Given the description of an element on the screen output the (x, y) to click on. 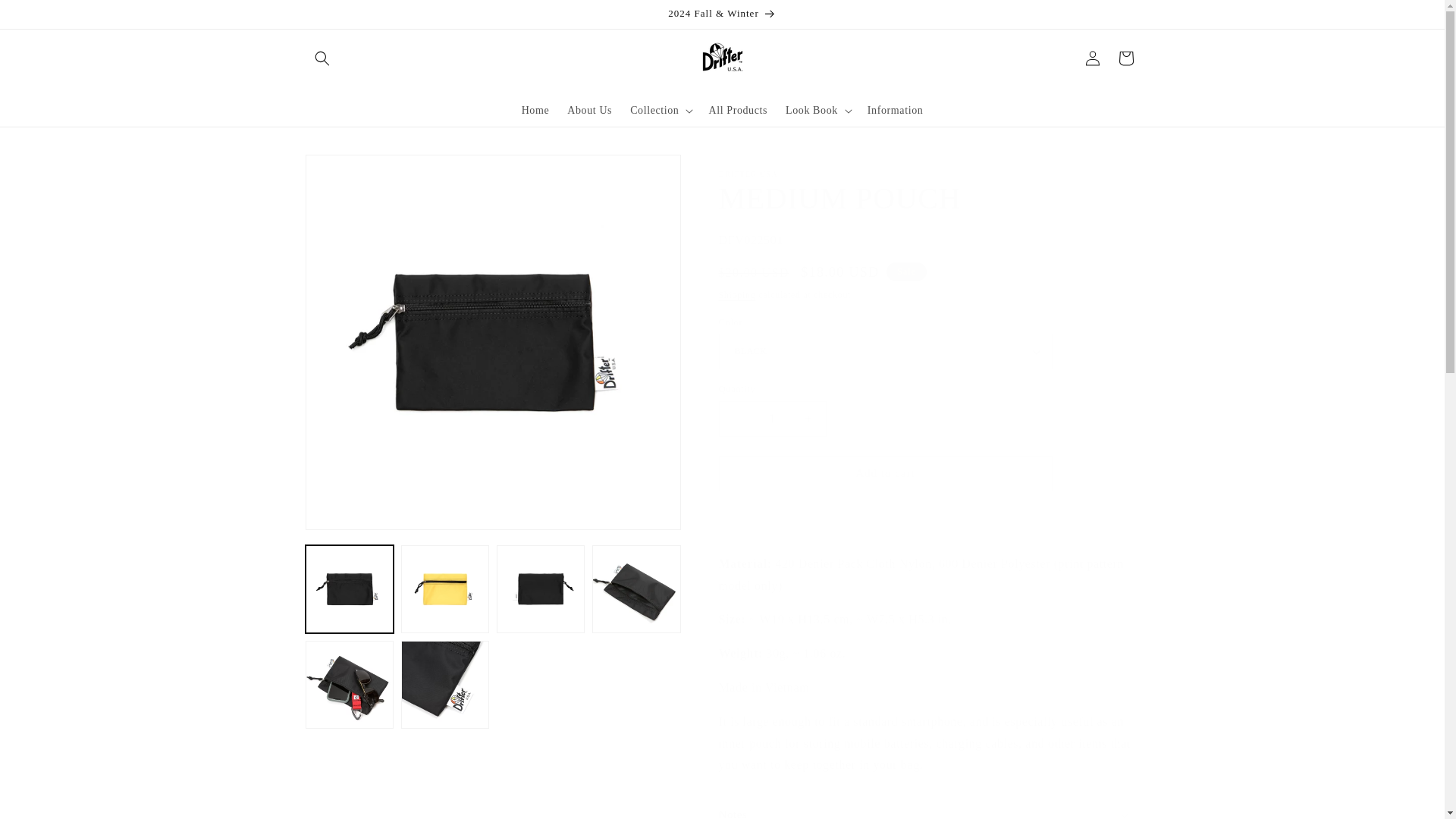
About Us (589, 110)
Home (535, 110)
Skip to content (45, 17)
1 (773, 418)
